Given the description of an element on the screen output the (x, y) to click on. 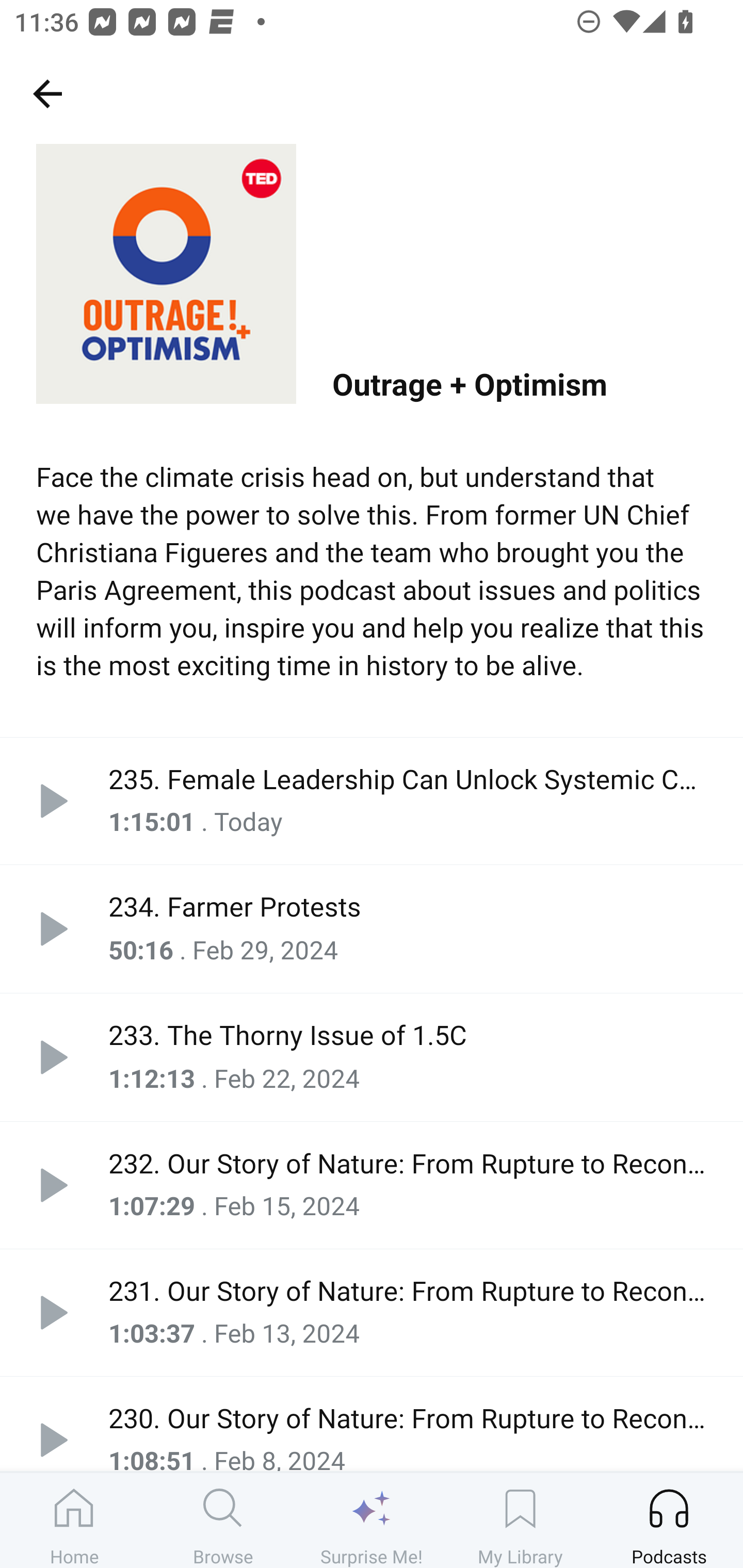
TED Podcasts, back (47, 92)
234. Farmer Protests 50:16 . Feb 29, 2024 (371, 928)
Home (74, 1520)
Browse (222, 1520)
Surprise Me! (371, 1520)
My Library (519, 1520)
Podcasts (668, 1520)
